Given the description of an element on the screen output the (x, y) to click on. 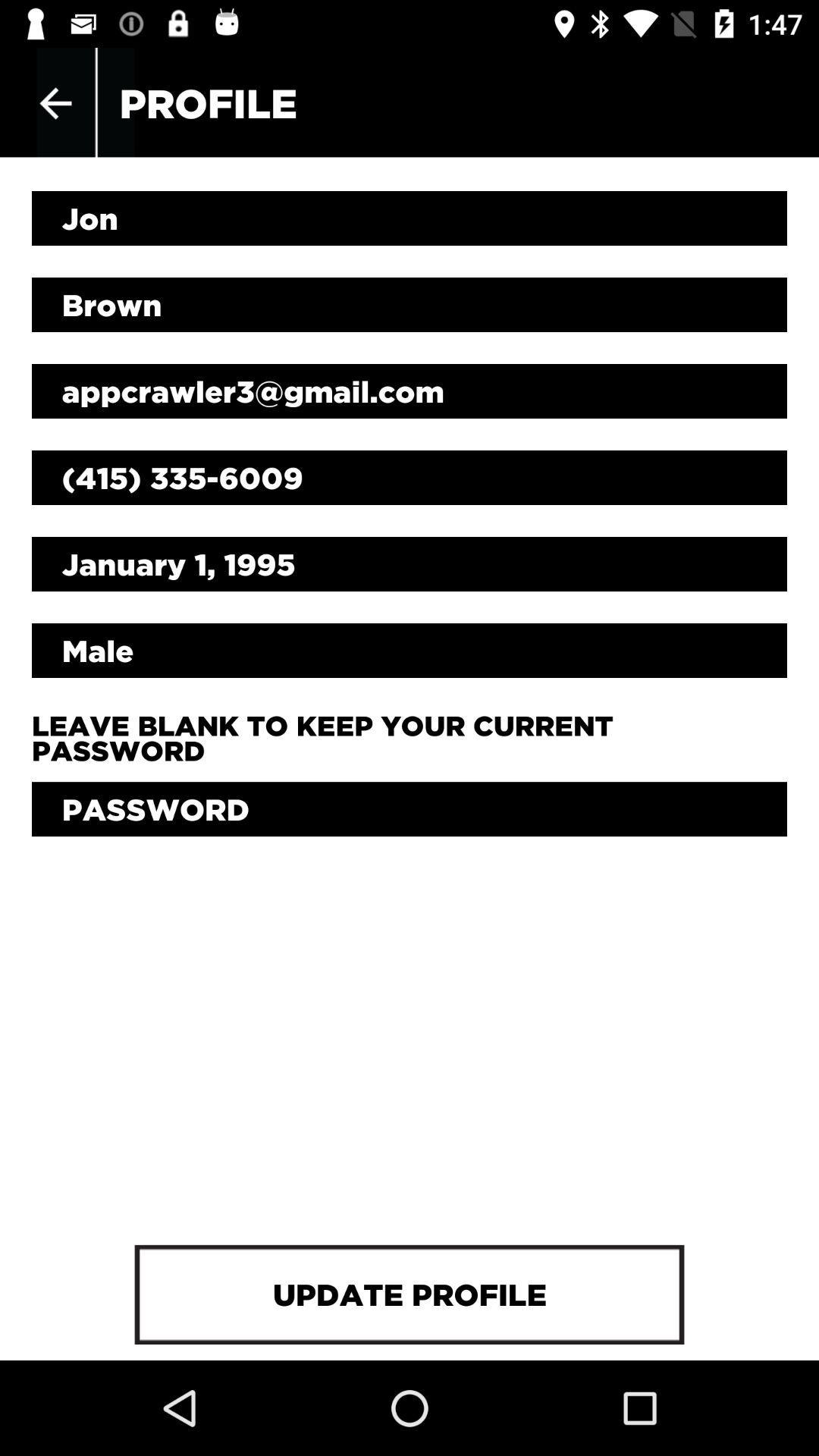
press the icon below the leave blank to icon (409, 809)
